Given the description of an element on the screen output the (x, y) to click on. 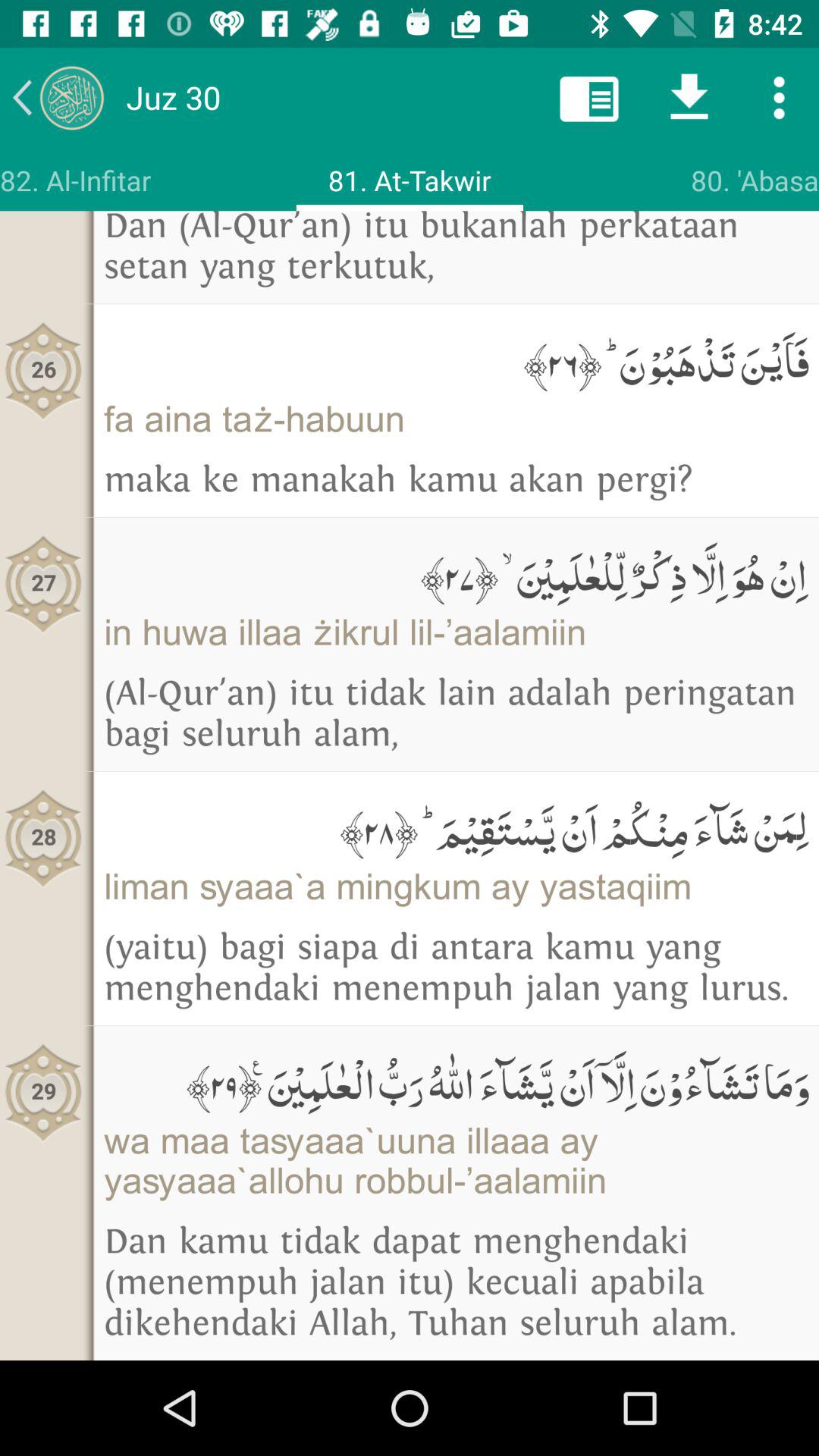
turn on item above the liman saaa a item (456, 826)
